Given the description of an element on the screen output the (x, y) to click on. 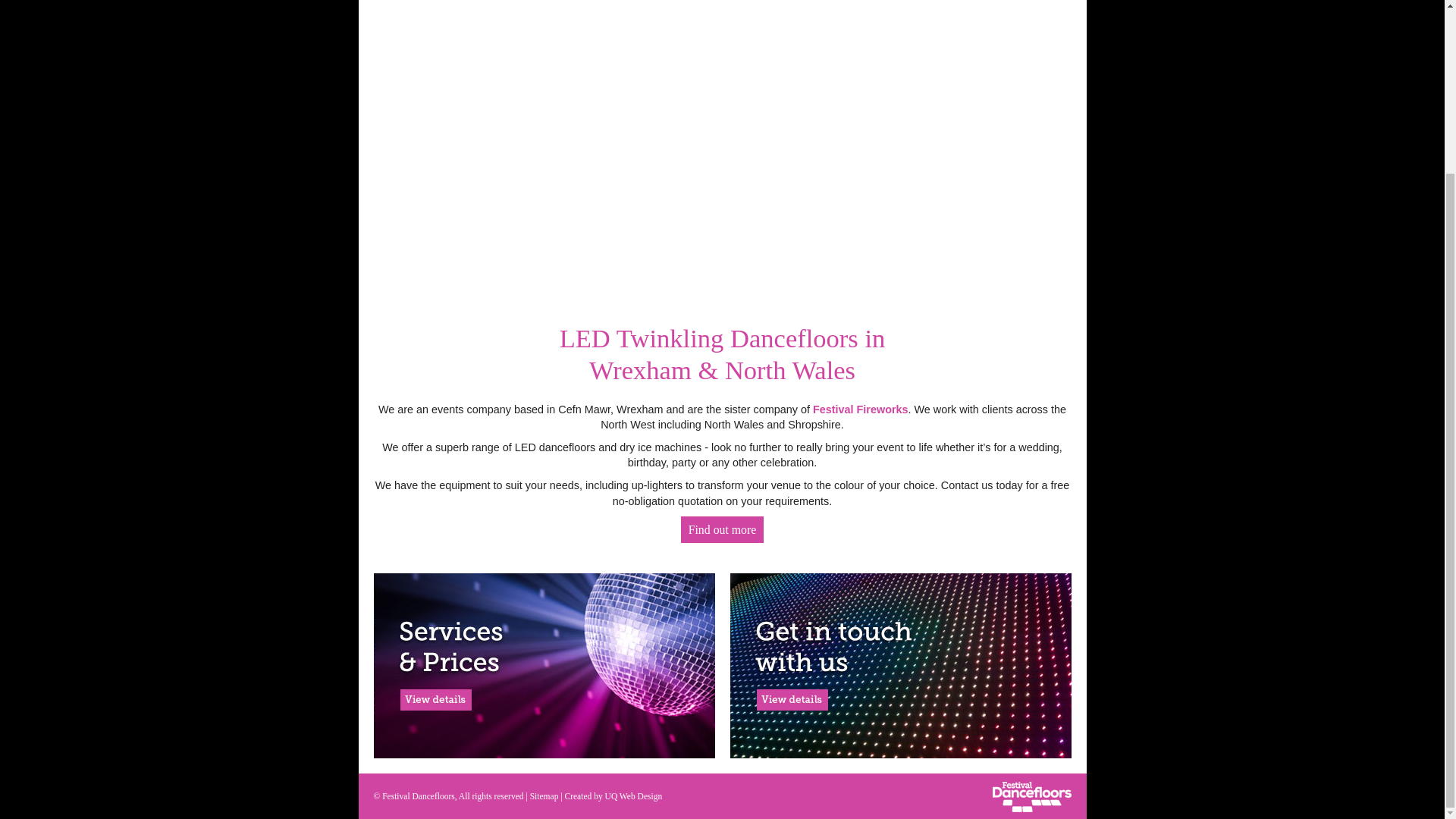
UQ Web Design (633, 795)
Find out more (722, 529)
View sitemap (544, 795)
Festival Fireworks (860, 409)
Sitemap (544, 795)
